Given the description of an element on the screen output the (x, y) to click on. 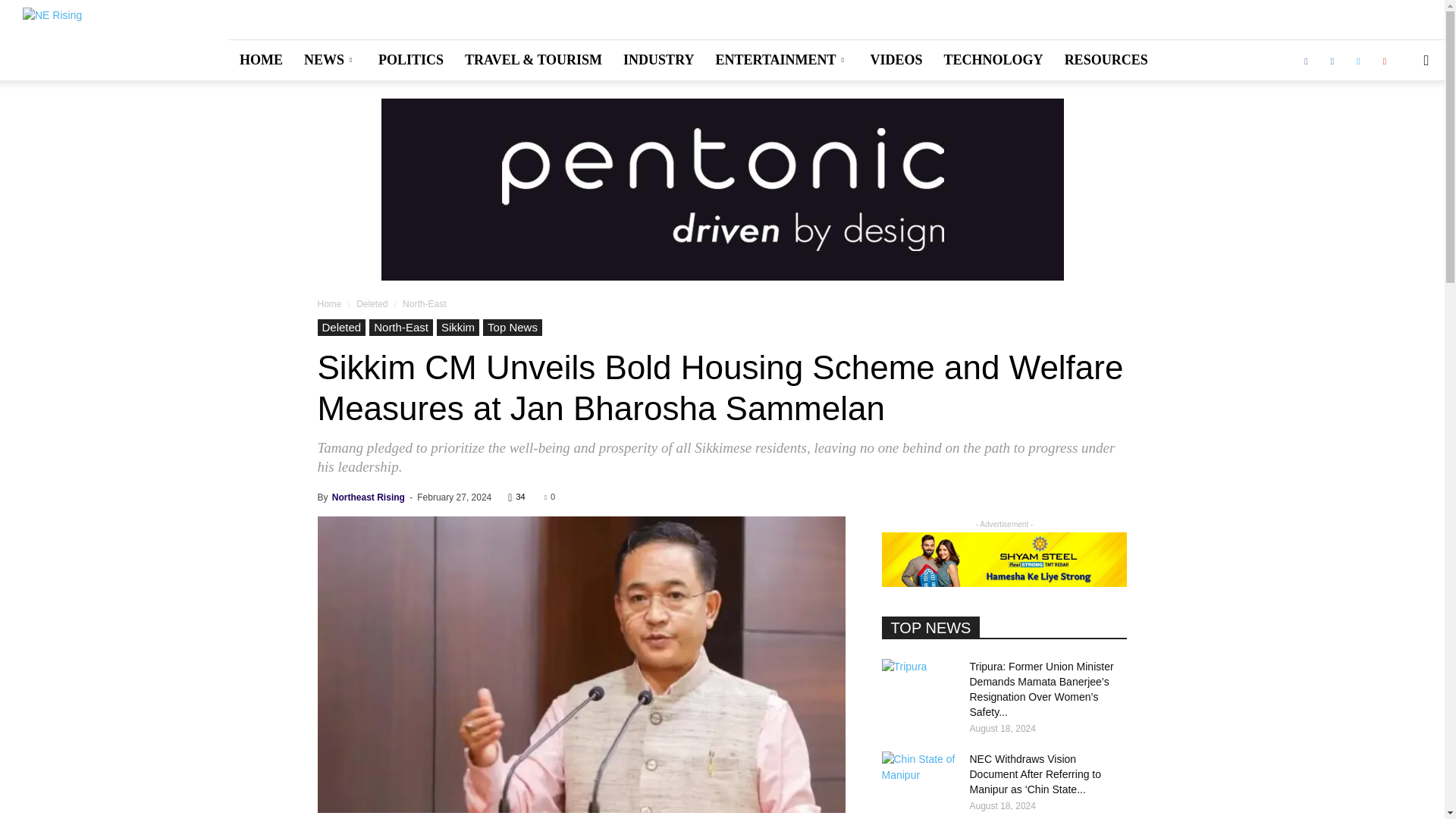
View all posts in Deleted (371, 303)
NE Rising (52, 39)
